Given the description of an element on the screen output the (x, y) to click on. 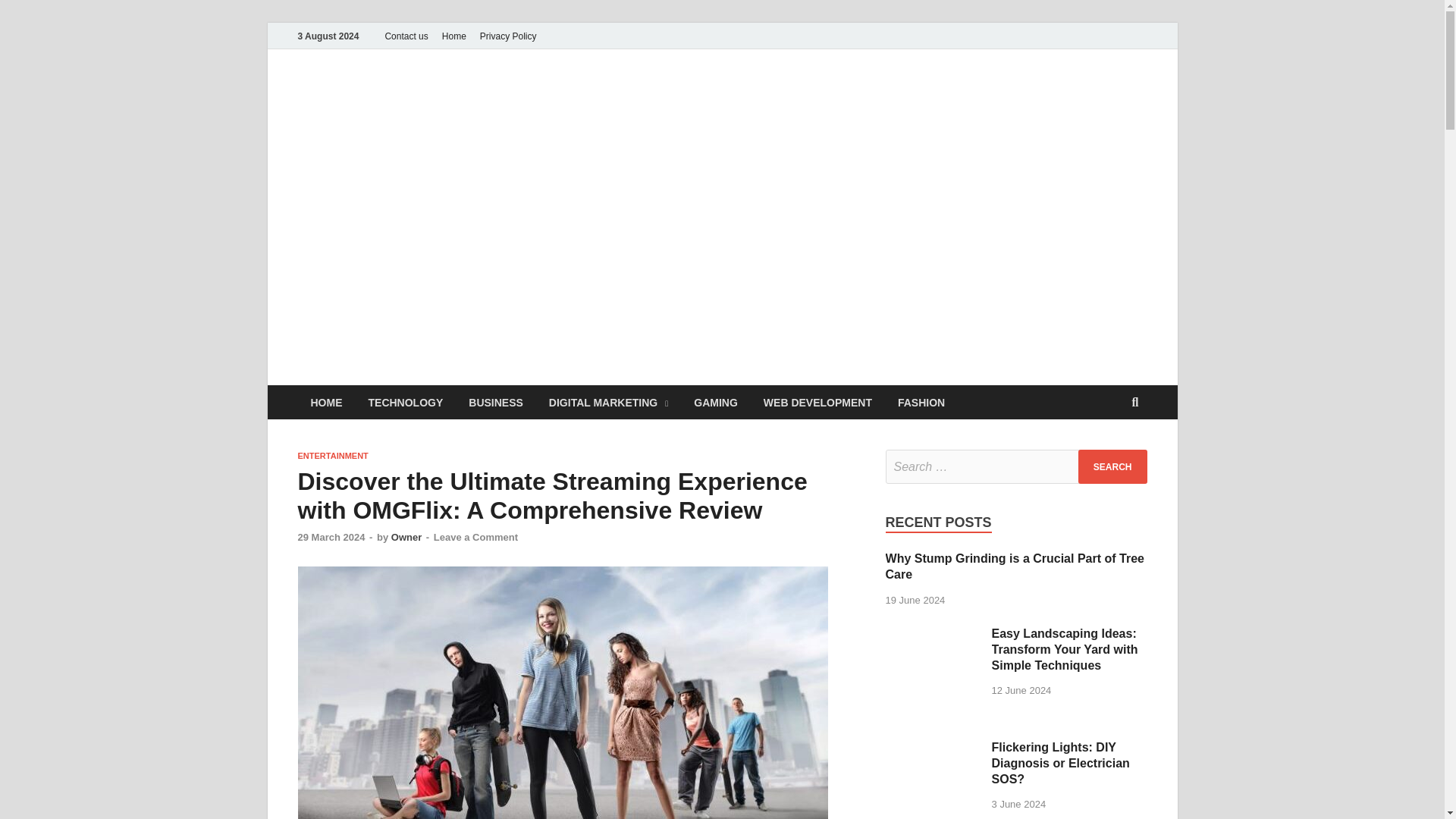
Home (454, 35)
29 March 2024 (331, 536)
Leave a Comment (475, 536)
DIGITAL MARKETING (608, 401)
FASHION (921, 401)
BUSINESS (495, 401)
ENTERTAINMENT (332, 455)
Privacy Policy (508, 35)
HOME (326, 401)
WEB DEVELOPMENT (818, 401)
Search (1112, 466)
TECHNOLOGY (405, 401)
Contact us (405, 35)
